Given the description of an element on the screen output the (x, y) to click on. 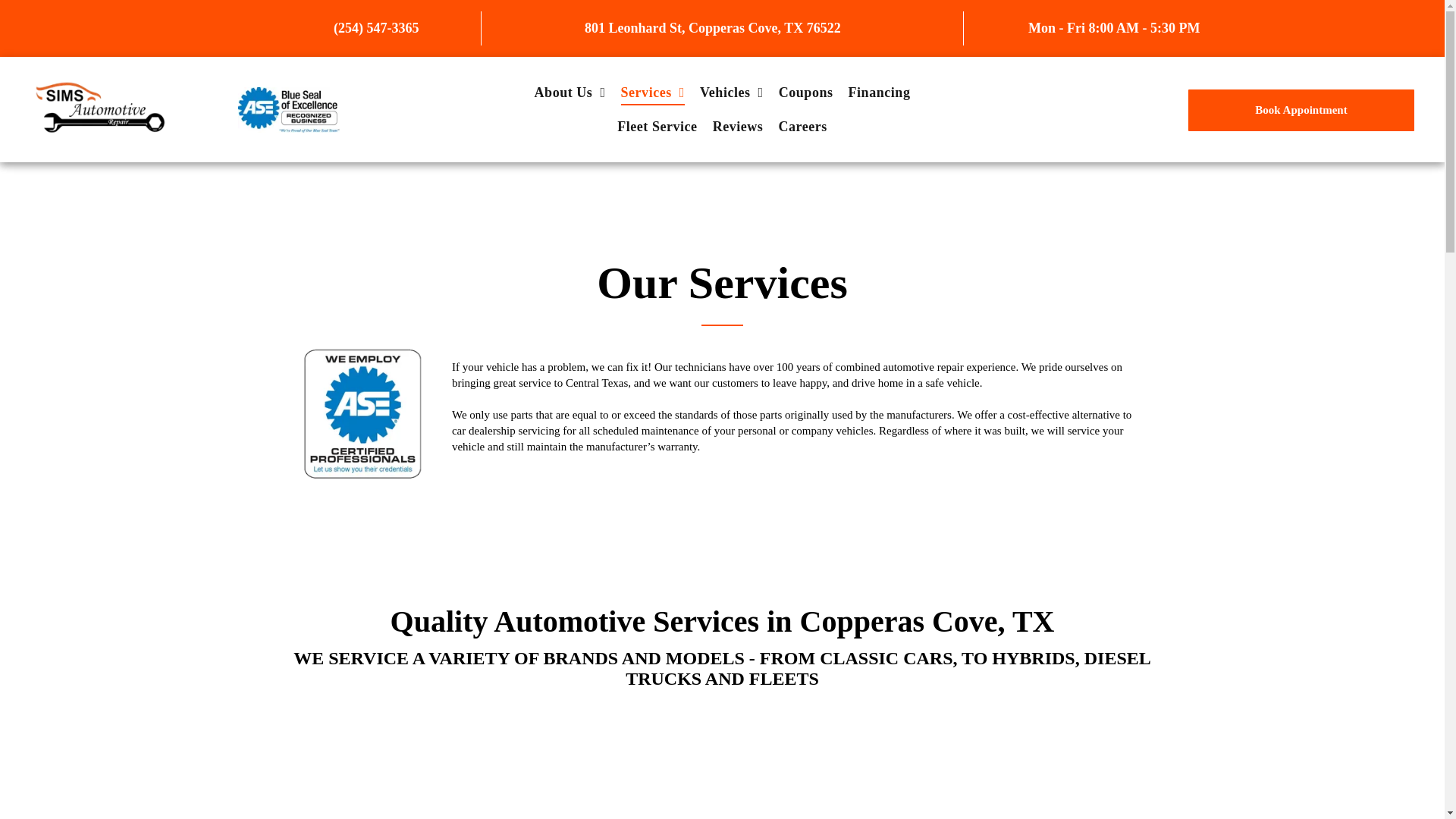
801 Leonhard St, Copperas Cove, TX 76522 (713, 28)
Services (652, 92)
Go to Homepage (97, 82)
About Us (569, 92)
Vehicles (732, 92)
